Given the description of an element on the screen output the (x, y) to click on. 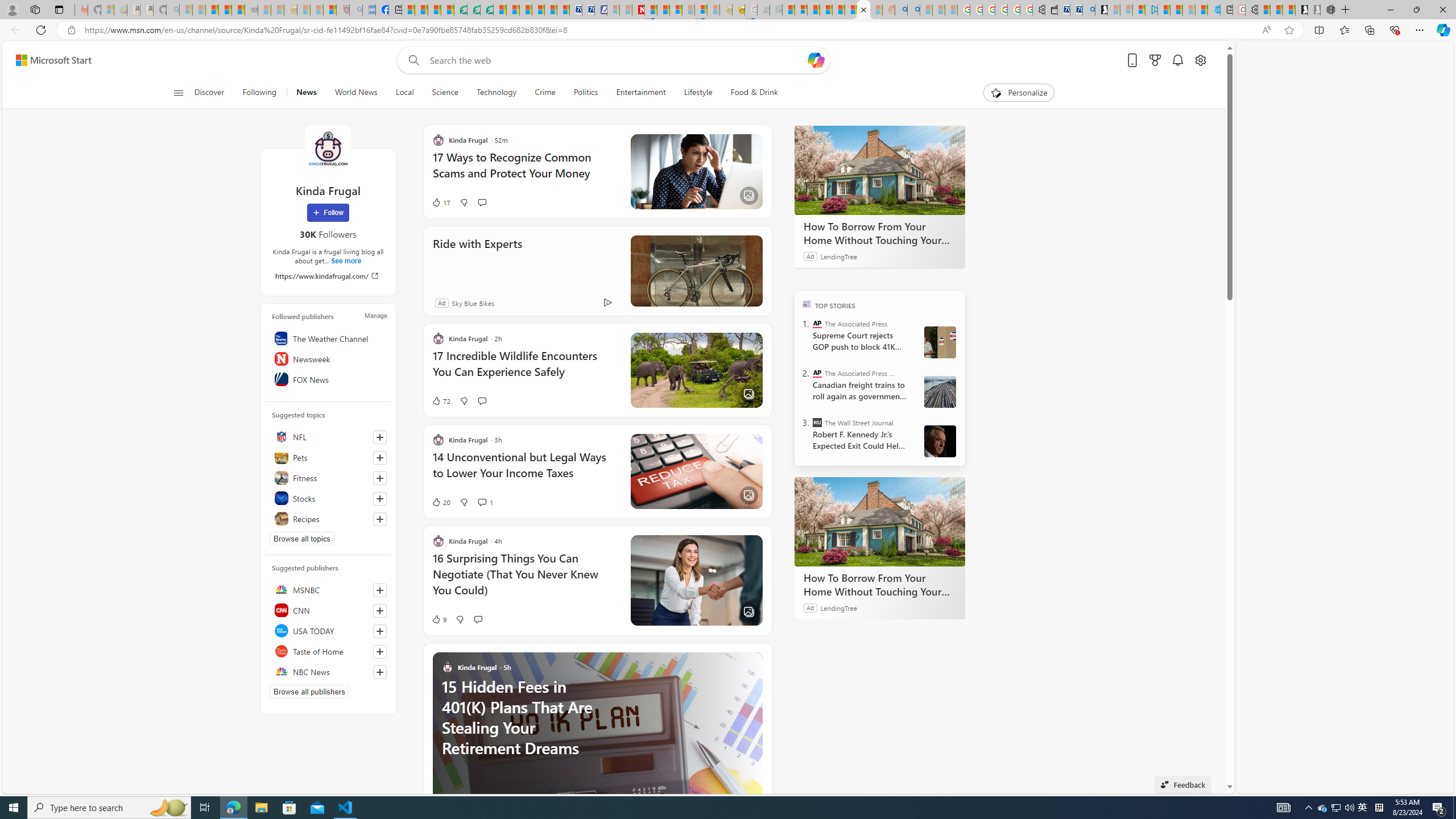
Notifications (1177, 60)
Microsoft Start Gaming (1101, 9)
Following (259, 92)
Follow this topic (379, 518)
NBC News (327, 671)
Navy Quest (763, 9)
Ride with Experts (477, 259)
Politics (585, 92)
Wallet (1050, 9)
